Given the description of an element on the screen output the (x, y) to click on. 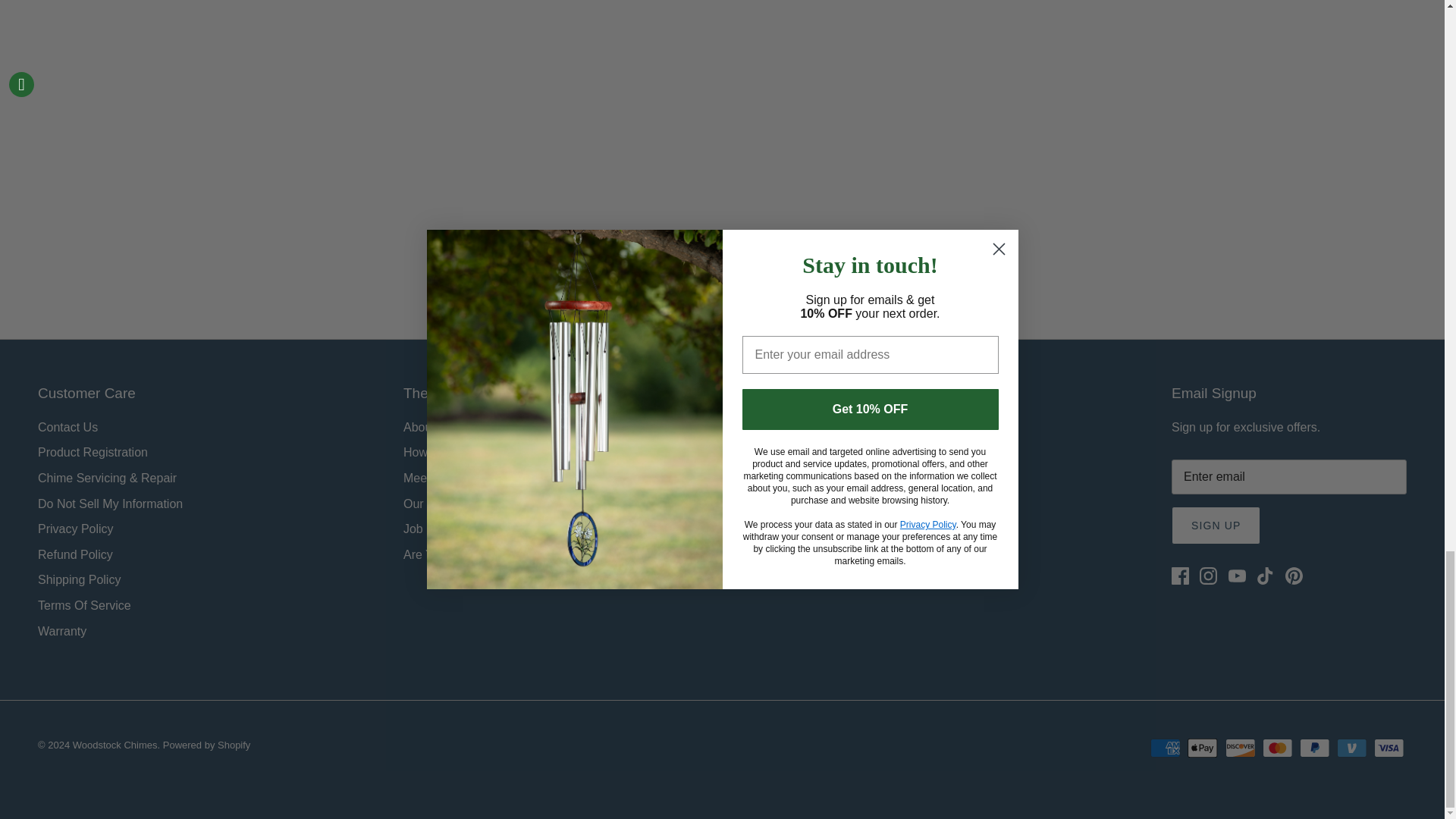
Mastercard (1277, 747)
Venmo (1351, 747)
Apple Pay (1202, 747)
Facebook (1180, 575)
Discover (1240, 747)
Youtube (1237, 575)
Instagram (1208, 575)
PayPal (1314, 747)
Pinterest (1294, 575)
Visa (1388, 747)
American Express (1165, 747)
